Given the description of an element on the screen output the (x, y) to click on. 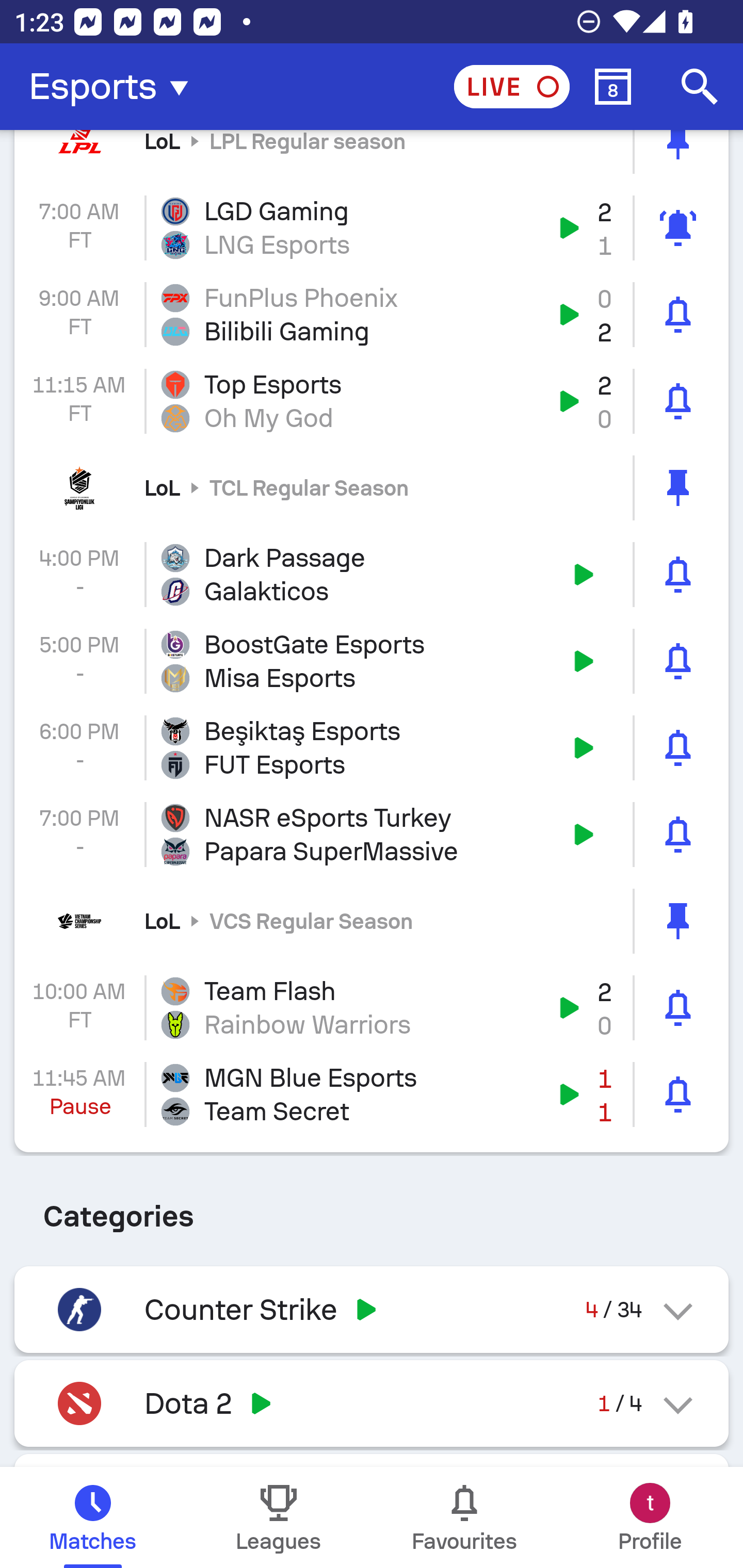
Esports (114, 86)
Calendar (612, 86)
Search (699, 86)
7:00 AM FT LGD Gaming LNG Esports 2 1 (371, 228)
9:00 AM FT FunPlus Phoenix Bilibili Gaming 0 2 (371, 314)
11:15 AM FT Top Esports Oh My God 2 0 (371, 401)
LoL TCL Regular Season (371, 488)
4:00 PM - Dark Passage Galakticos (371, 574)
5:00 PM - BoostGate Esports Misa Esports (371, 660)
6:00 PM - Beşiktaş Esports FUT Esports (371, 747)
7:00 PM - NASR eSports Turkey Papara SuperMassive (371, 834)
LoL VCS Regular Season (371, 921)
10:00 AM FT Team Flash Rainbow Warriors 2 0 (371, 1007)
11:45 AM Pause MGN Blue Esports Team Secret 1 1 (371, 1094)
Categories (371, 1208)
Counter Strike 4 / 34 (371, 1309)
Dota 2 1 / 4 (371, 1403)
Leagues (278, 1517)
Favourites (464, 1517)
Profile (650, 1517)
